Given the description of an element on the screen output the (x, y) to click on. 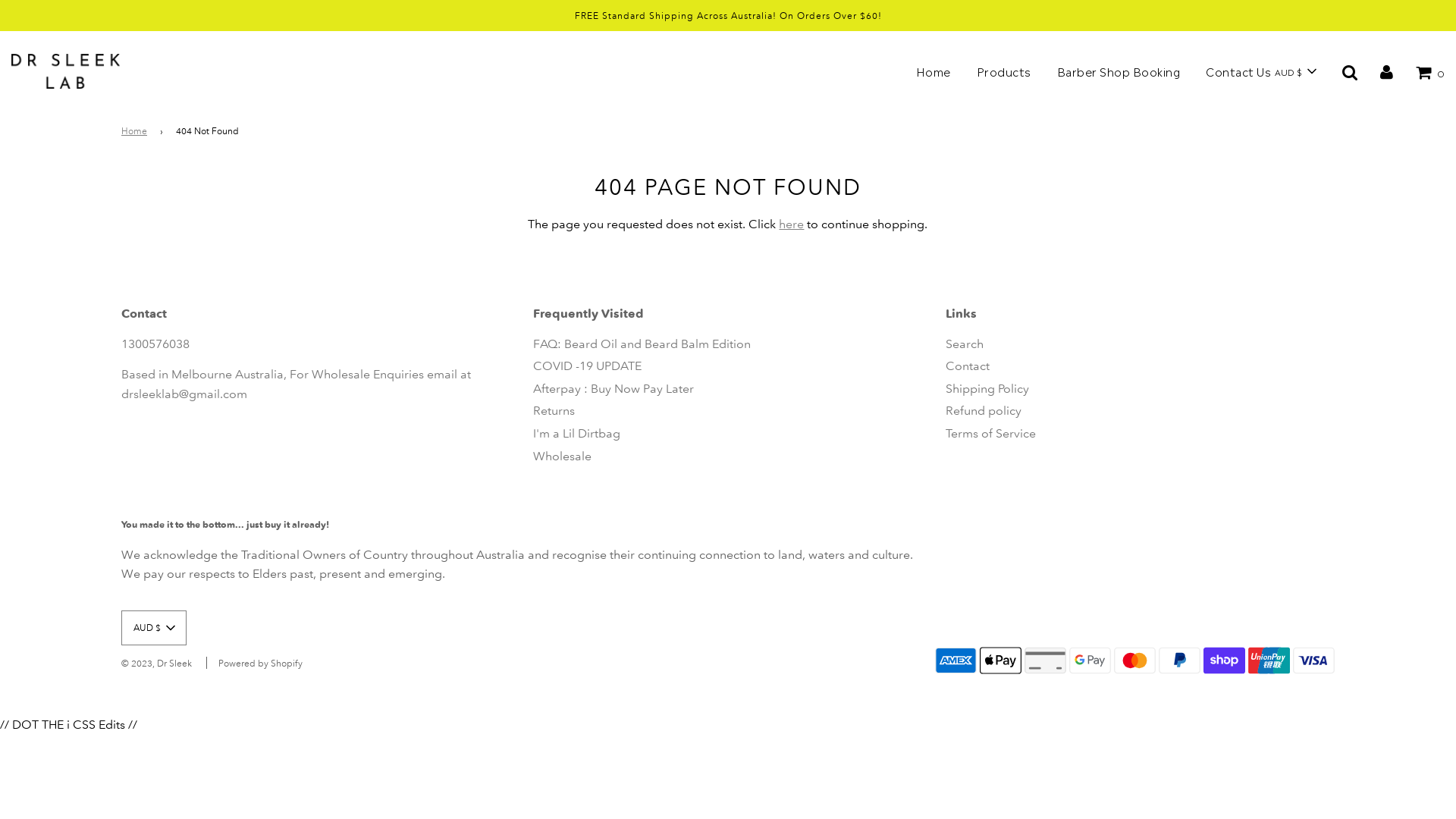
Products Element type: text (1002, 70)
Powered by Shopify Element type: text (260, 662)
Barber Shop Booking Element type: text (1117, 70)
Contact Element type: text (967, 365)
Wholesale Element type: text (562, 455)
Returns Element type: text (553, 410)
Contact Us Element type: text (1238, 70)
Refund policy Element type: text (983, 410)
Home Element type: text (136, 130)
You made it to the bottom... just buy it already! Element type: text (225, 524)
here Element type: text (790, 223)
Afterpay : Buy Now Pay Later Element type: text (613, 388)
Shipping Policy Element type: text (987, 388)
I'm a Lil Dirtbag Element type: text (576, 433)
0 Element type: text (1429, 71)
FAQ: Beard Oil and Beard Balm Edition Element type: text (641, 343)
Home Element type: text (932, 70)
AUD $ Element type: text (153, 627)
AUD $ Element type: text (1294, 71)
COVID -19 UPDATE Element type: text (587, 365)
Log in Element type: hover (1386, 70)
Terms of Service Element type: text (990, 433)
Search Element type: text (964, 343)
